Given the description of an element on the screen output the (x, y) to click on. 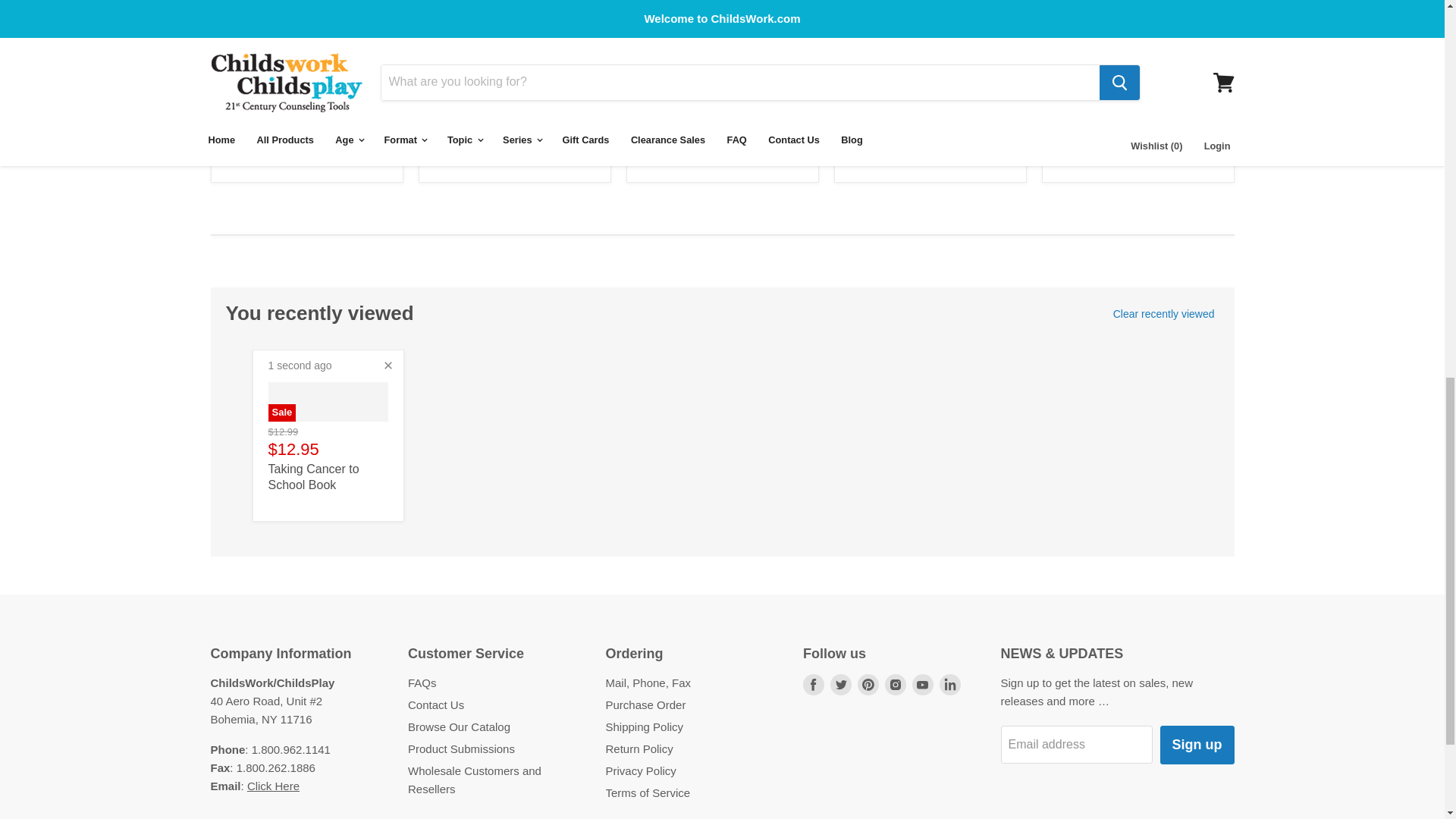
Twitter (840, 684)
Instagram (895, 684)
Youtube (922, 684)
Pinterest (868, 684)
Facebook (813, 684)
LinkedIn (949, 684)
Contact Us (273, 785)
